Given the description of an element on the screen output the (x, y) to click on. 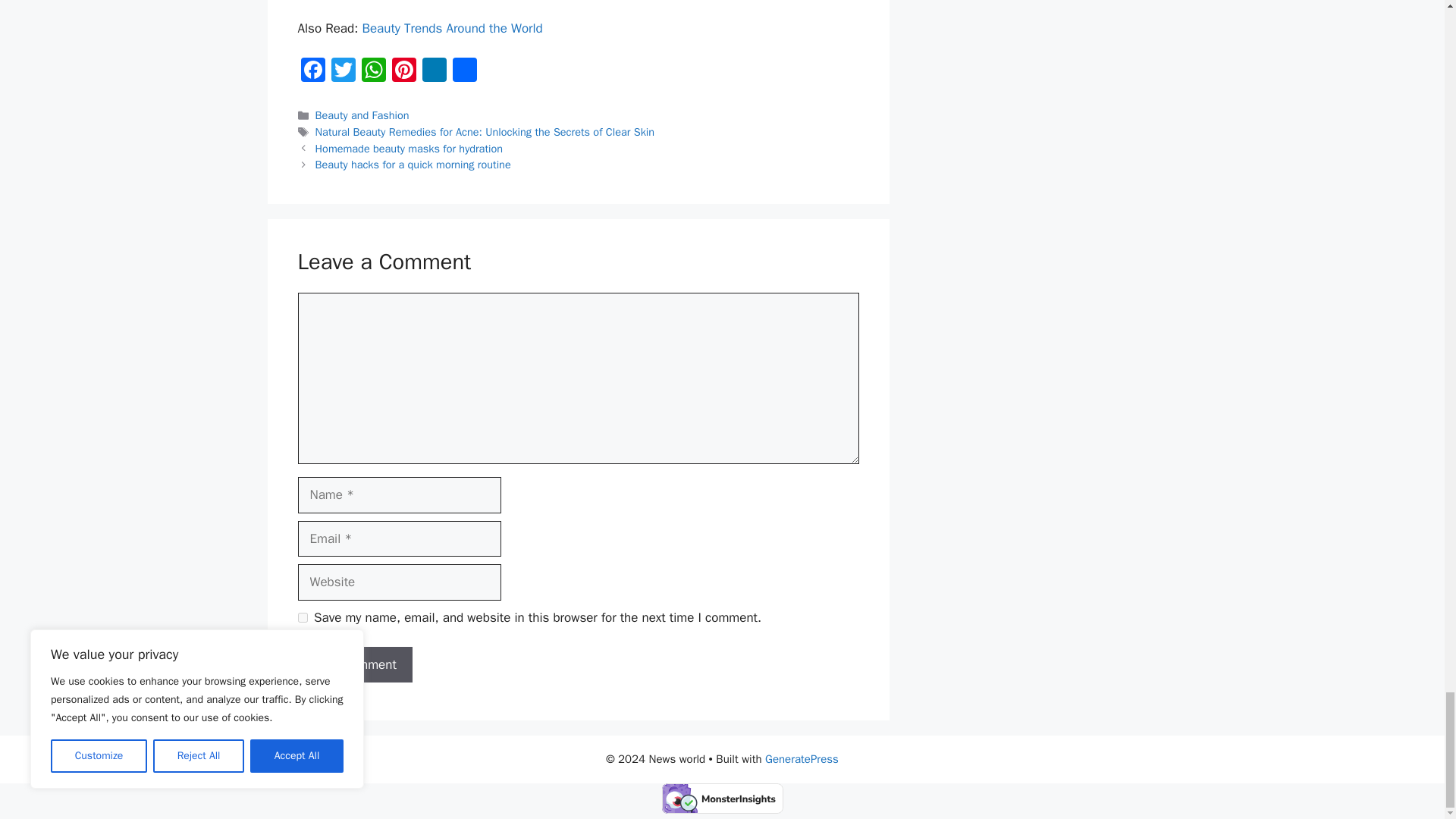
Facebook (312, 71)
yes (302, 617)
Post Comment (354, 665)
